Given the description of an element on the screen output the (x, y) to click on. 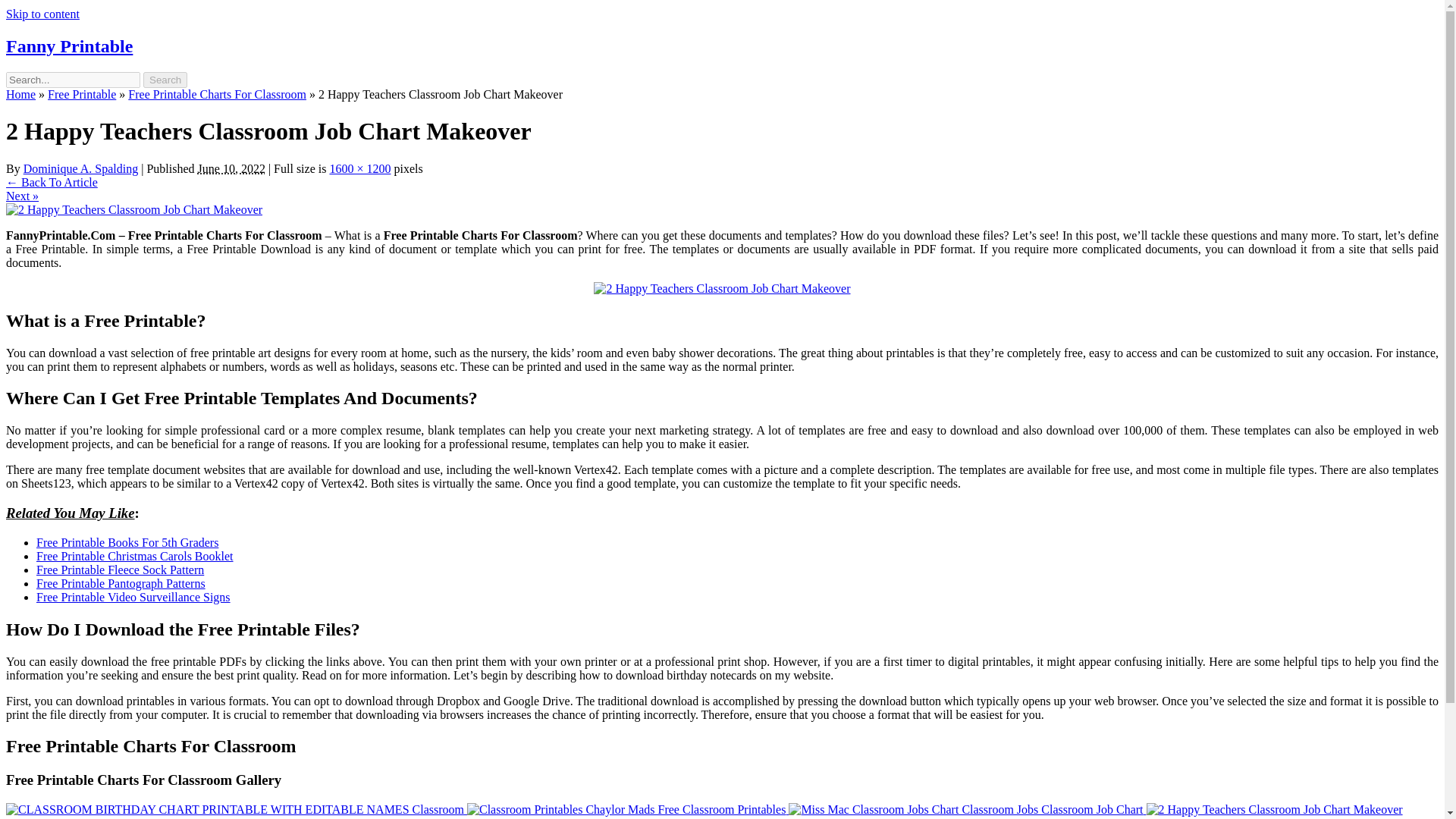
Dominique A. Spalding (80, 168)
Link to full-size image (359, 168)
Classroom Printables Chaylor Mads Free Classroom Printables (628, 809)
Free Printable Pantograph Patterns (120, 583)
Free Printable (82, 93)
Free Printable Charts For Classroom (216, 93)
Free Printable Fleece Sock Pattern (119, 569)
Fanny Printable (68, 46)
Free Printable Video Surveillance Signs (133, 596)
Search (164, 79)
